Given the description of an element on the screen output the (x, y) to click on. 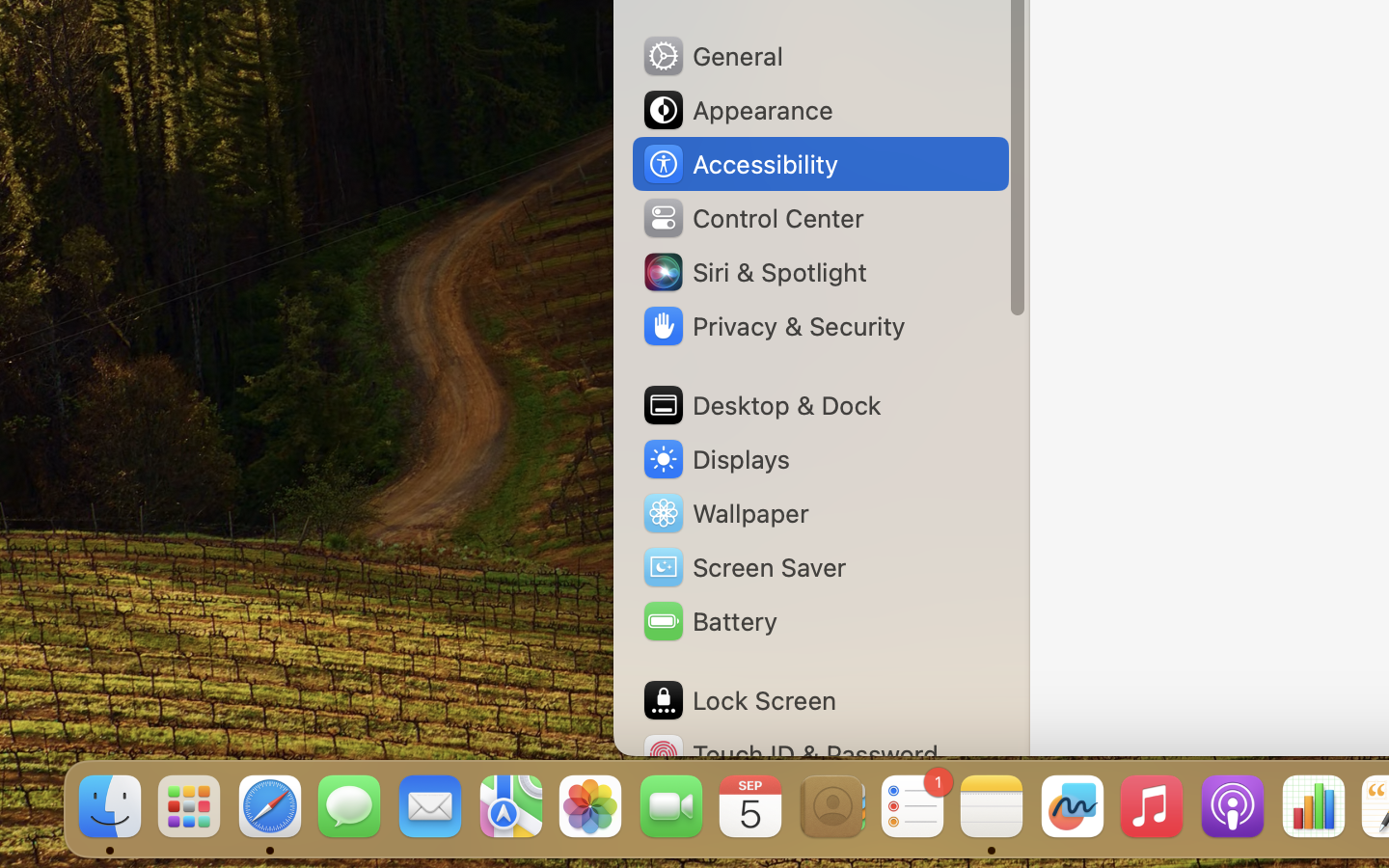
General Element type: AXStaticText (711, 55)
Accessibility Element type: AXStaticText (739, 163)
Displays Element type: AXStaticText (715, 458)
Battery Element type: AXStaticText (708, 620)
Wallpaper Element type: AXStaticText (724, 512)
